Given the description of an element on the screen output the (x, y) to click on. 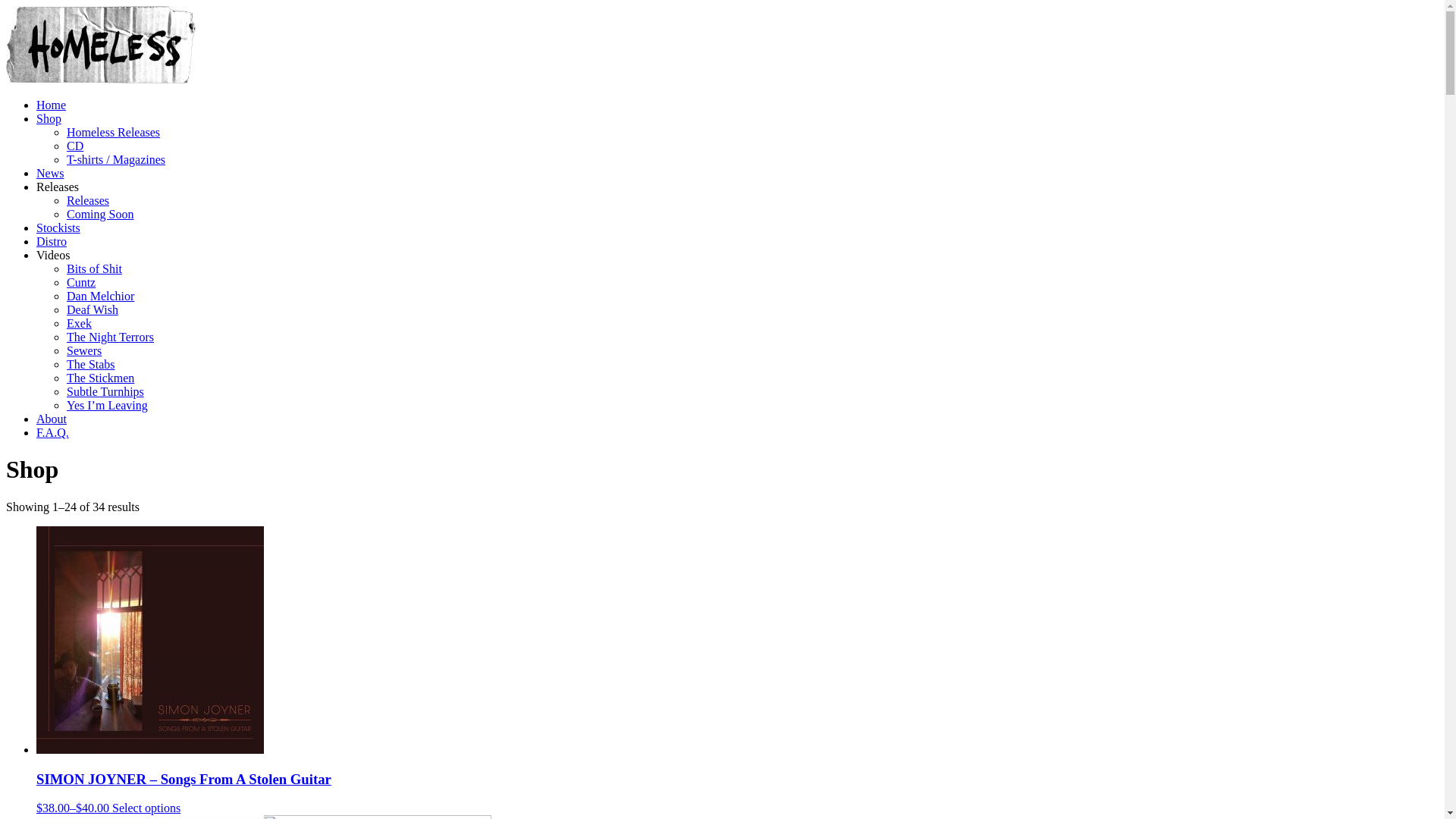
Home Element type: text (50, 104)
Releases Element type: text (87, 200)
Subtle Turnhips Element type: text (105, 391)
F.A.Q. Element type: text (52, 432)
Select options Element type: text (146, 807)
Bits of Shit Element type: text (94, 268)
News Element type: text (49, 172)
Videos Element type: text (52, 254)
Shop Element type: text (48, 118)
The Stickmen Element type: text (100, 377)
simon-joyner-songs-from Element type: hover (149, 639)
Homeless Releases Element type: text (113, 131)
CD Element type: text (74, 145)
Releases Element type: text (57, 186)
The Night Terrors Element type: text (109, 336)
Stockists Element type: text (58, 227)
Distro Element type: text (51, 241)
The Stabs Element type: text (90, 363)
T-shirts / Magazines Element type: text (115, 159)
Deaf Wish Element type: text (92, 309)
Coming Soon Element type: text (99, 213)
Dan Melchior Element type: text (100, 295)
Cuntz Element type: text (80, 282)
Exek Element type: text (78, 322)
About Element type: text (51, 418)
Sewers Element type: text (83, 350)
